Given the description of an element on the screen output the (x, y) to click on. 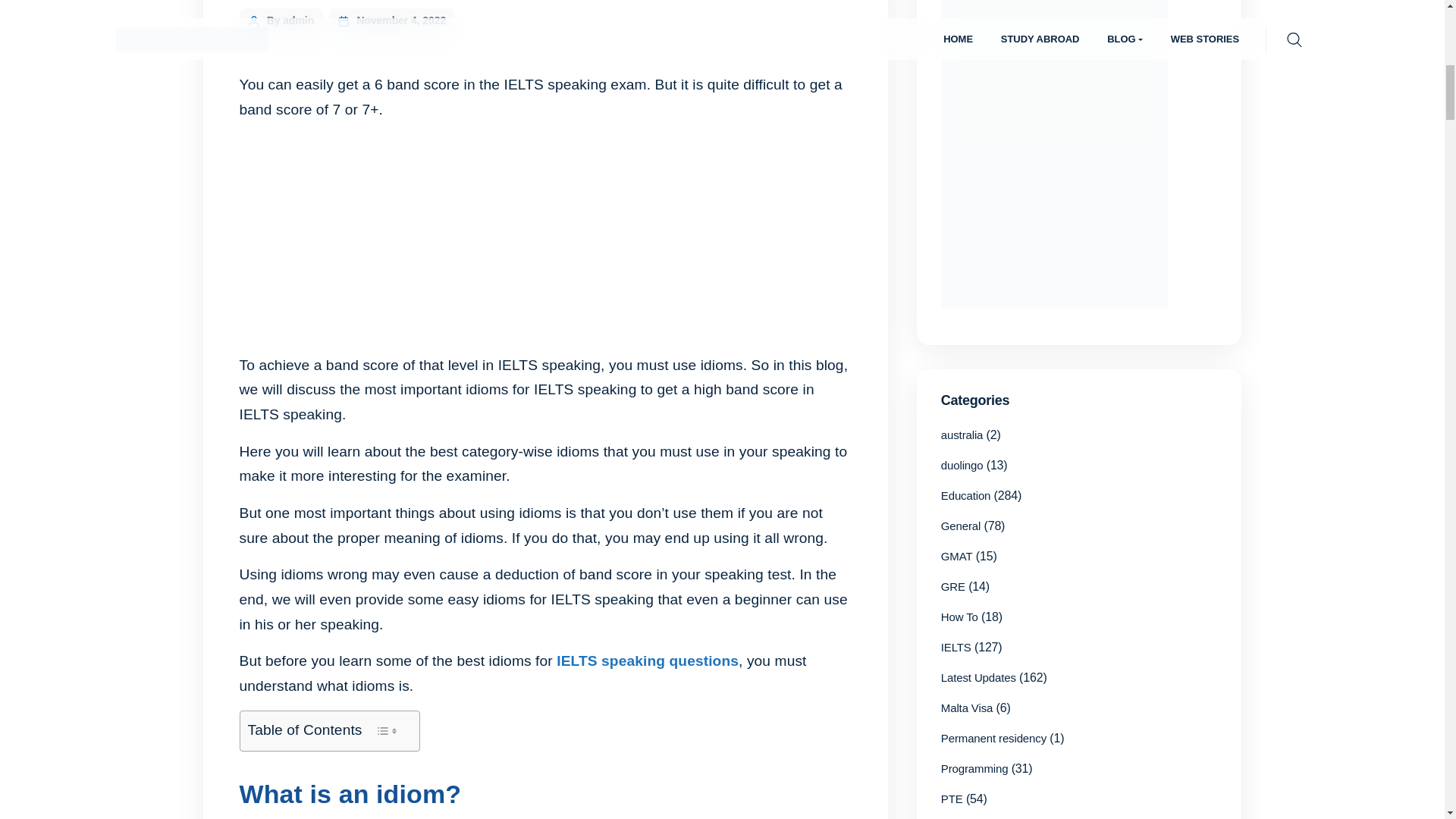
IELTS speaking questions (647, 660)
By admin (290, 20)
Advertisement (545, 241)
